Given the description of an element on the screen output the (x, y) to click on. 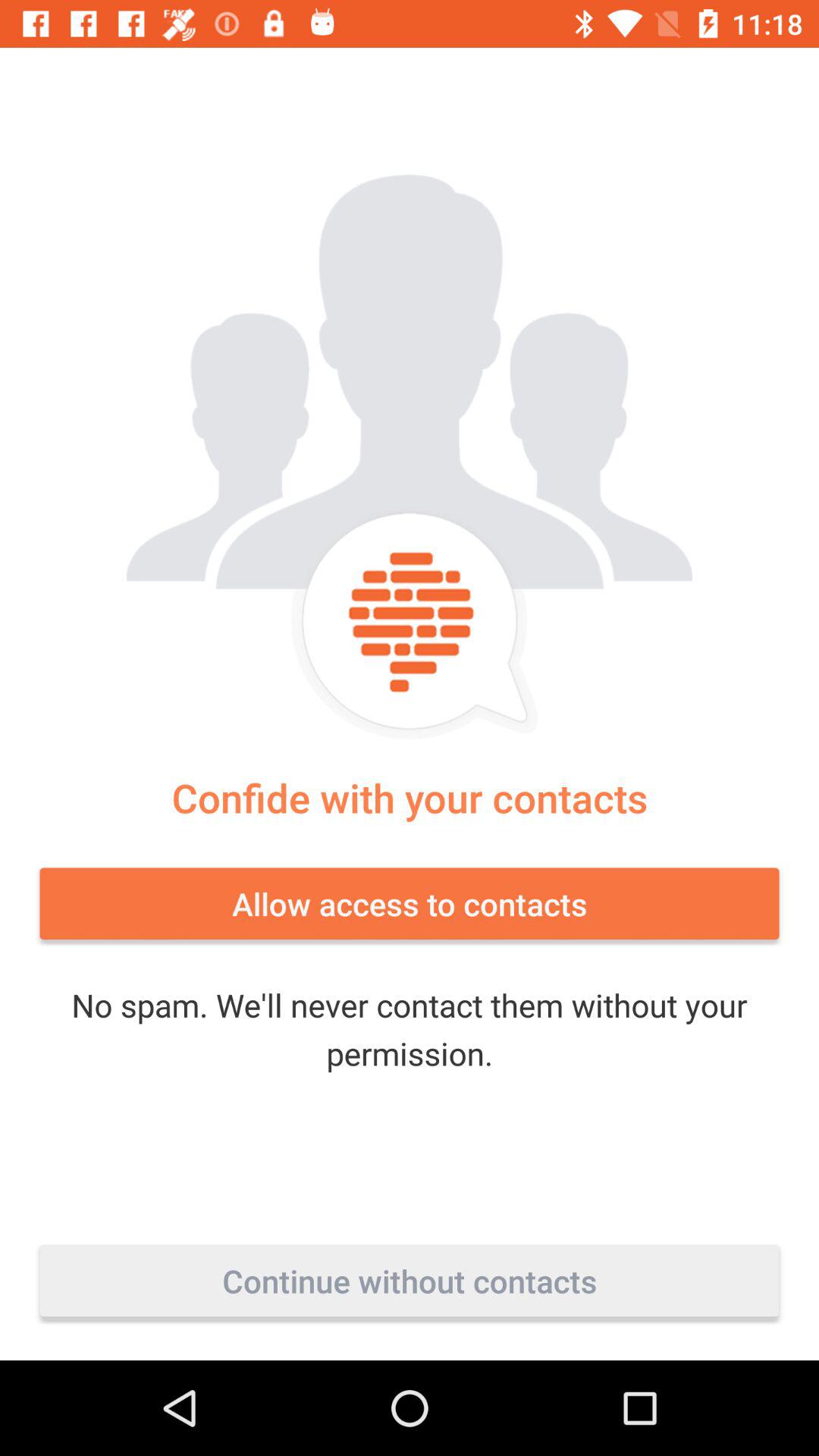
turn on the allow access to icon (409, 903)
